Given the description of an element on the screen output the (x, y) to click on. 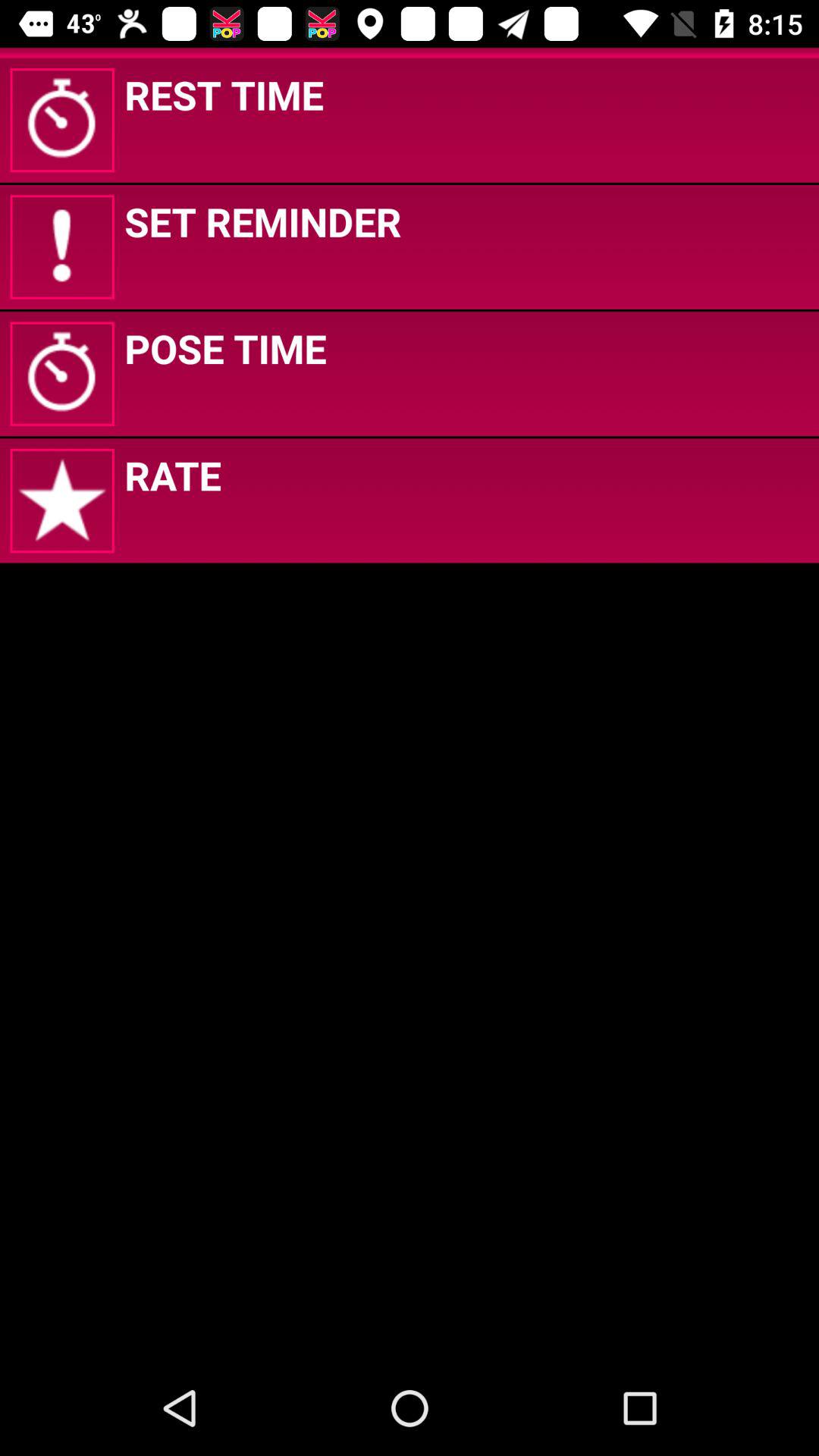
swipe to the rest time app (223, 94)
